Given the description of an element on the screen output the (x, y) to click on. 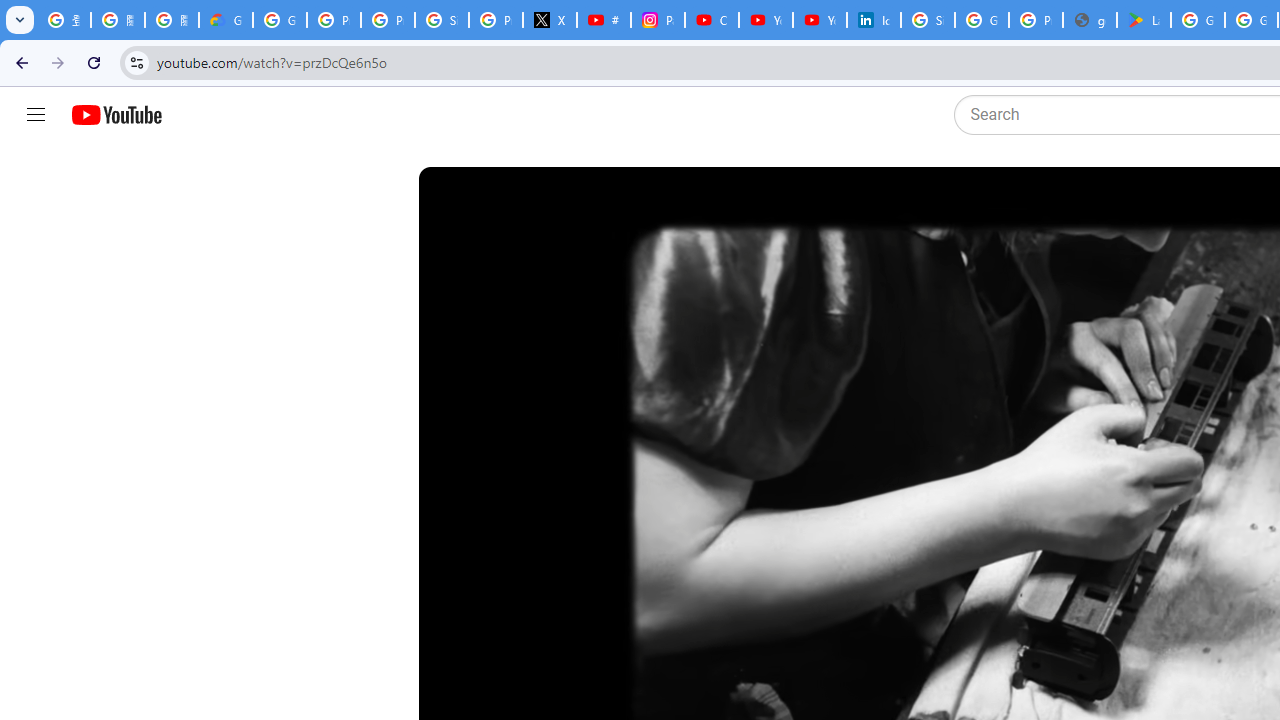
Guide (35, 115)
Last Shelter: Survival - Apps on Google Play (1144, 20)
Sign in - Google Accounts (441, 20)
Sign in - Google Accounts (927, 20)
